Given the description of an element on the screen output the (x, y) to click on. 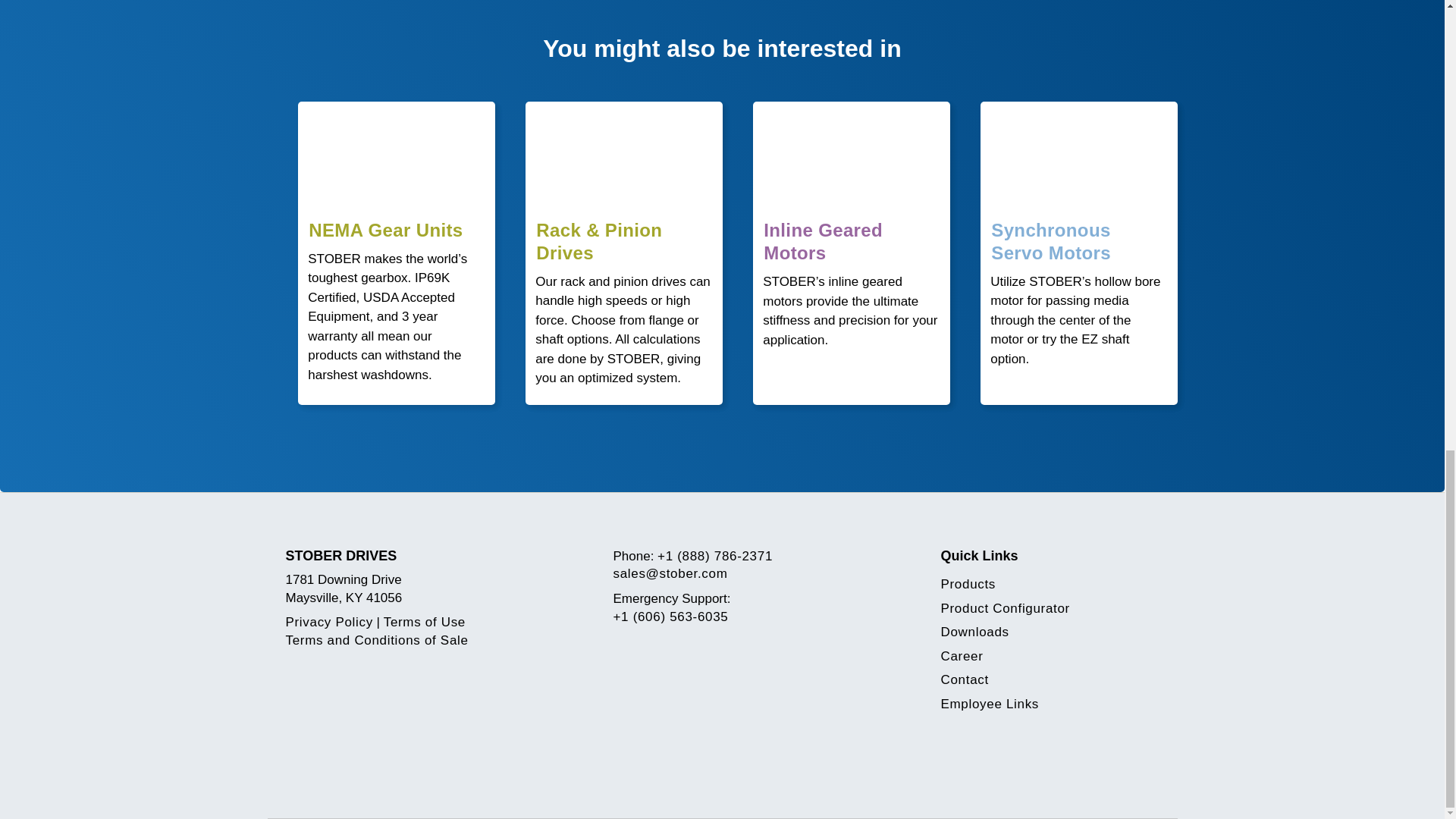
Imprint (328, 622)
Terms and Conditions (376, 640)
Legal Notes (424, 622)
